Given the description of an element on the screen output the (x, y) to click on. 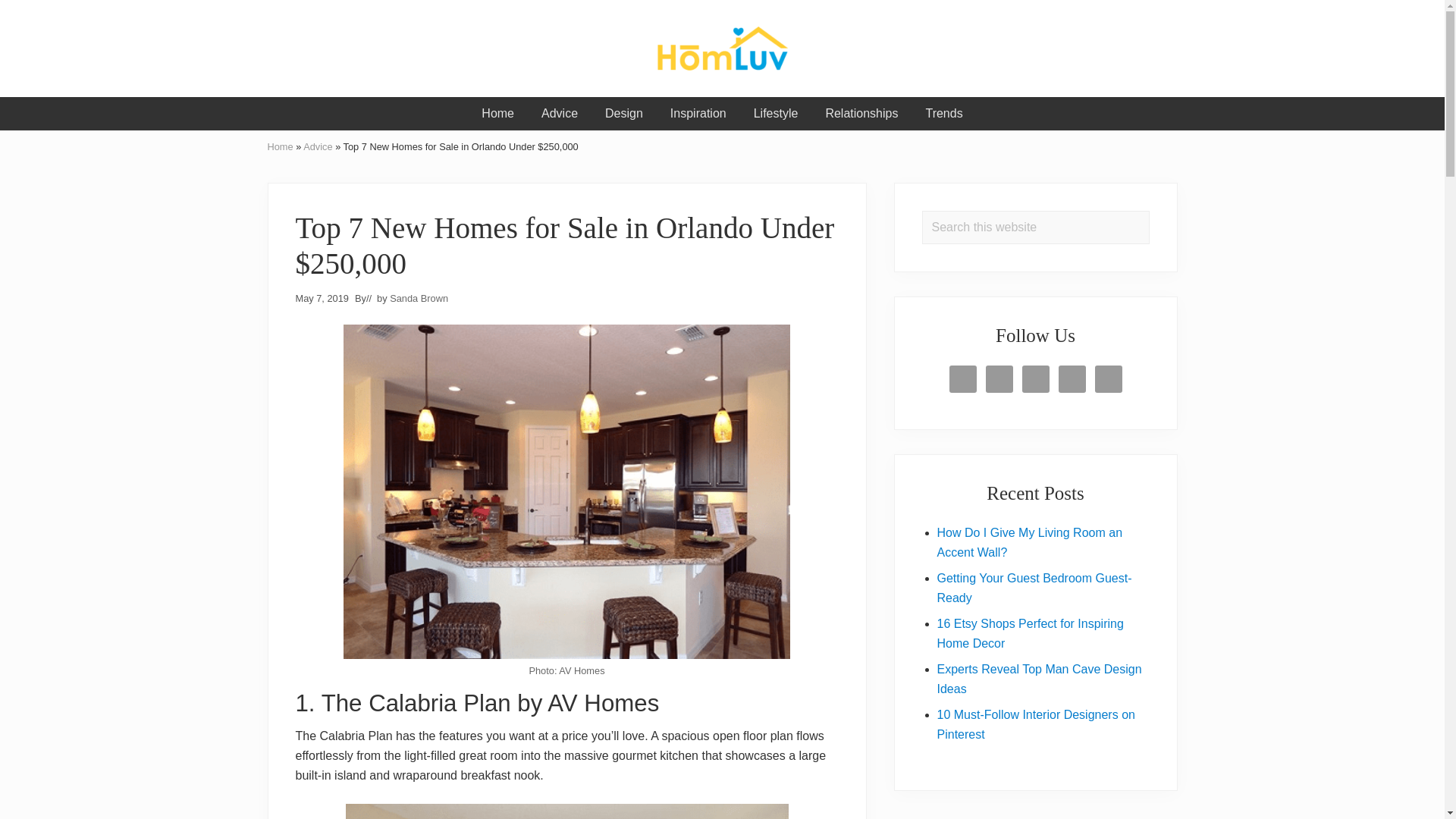
Experts Reveal Top Man Cave Design Ideas (1039, 678)
Sanda Brown (419, 297)
Relationships (860, 113)
Design (623, 113)
Inspiration (697, 113)
10 Must-Follow Interior Designers on Pinterest (1036, 724)
Home (497, 113)
Lifestyle (775, 113)
Trends (943, 113)
Advice (559, 113)
Home (279, 146)
Getting Your Guest Bedroom Guest-Ready (1034, 587)
